Given the description of an element on the screen output the (x, y) to click on. 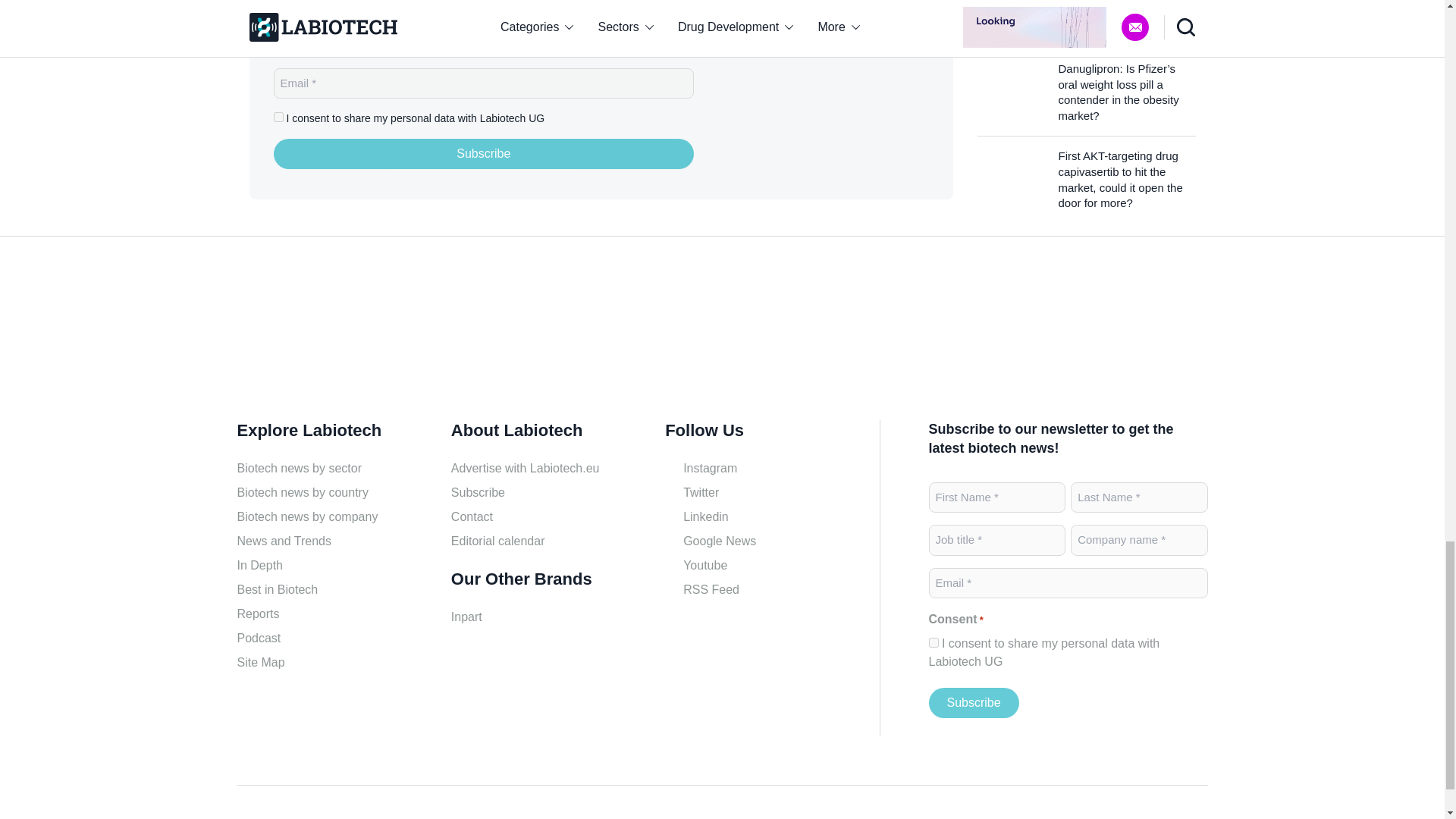
1 (932, 642)
1 (277, 117)
Labiotech.eu (834, 99)
Subscribe (972, 702)
Subscribe (483, 153)
Labiotech.eu (309, 334)
